Given the description of an element on the screen output the (x, y) to click on. 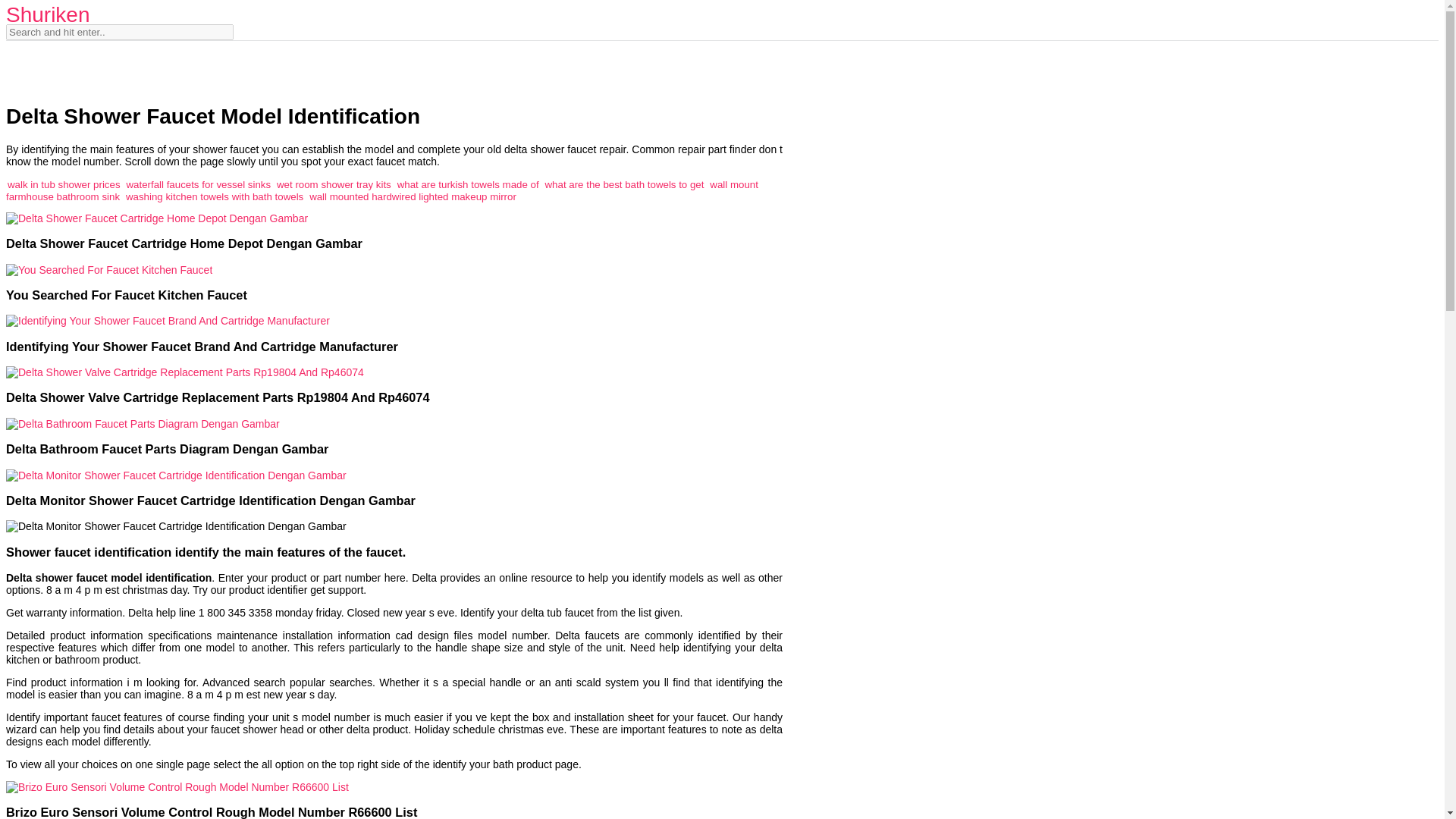
walk in tub shower prices (63, 184)
Shuriken (47, 14)
wall mount farmhouse bathroom sink (381, 190)
wall mounted hardwired lighted makeup mirror (412, 196)
what are turkish towels made of (467, 184)
what are the best bath towels to get (624, 184)
waterfall faucets for vessel sinks (197, 184)
Shuriken (47, 14)
washing kitchen towels with bath towels (213, 196)
wet room shower tray kits (333, 184)
